Given the description of an element on the screen output the (x, y) to click on. 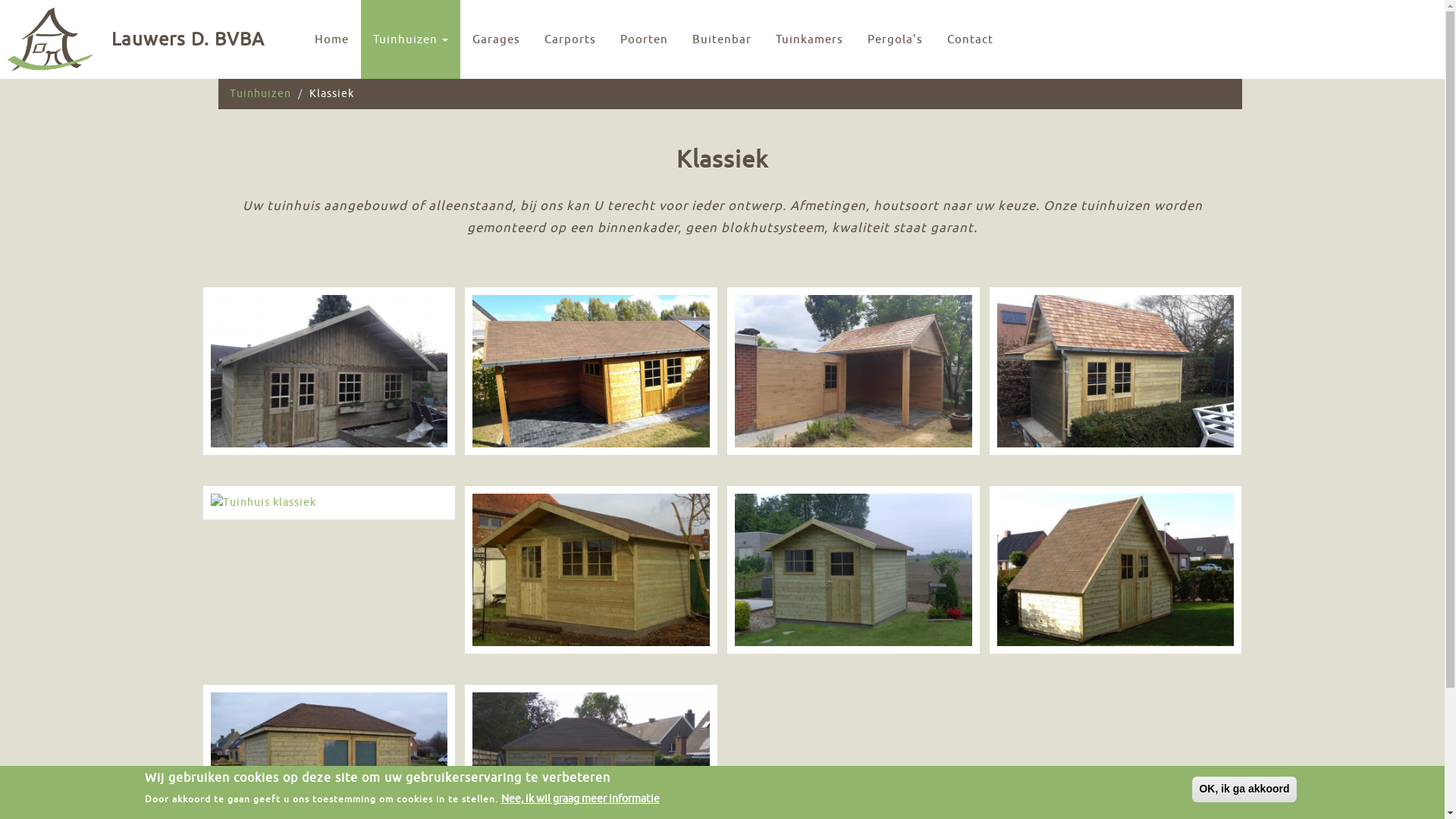
OK, ik ga akkoord Element type: text (1243, 789)
Tuinhuizen Element type: text (410, 39)
Buitenbar Element type: text (721, 39)
Contact Element type: text (970, 39)
Home Element type: text (331, 39)
Garages Element type: text (496, 39)
Tuinhuizen Element type: text (259, 93)
Poorten Element type: text (644, 39)
Carports Element type: text (570, 39)
Lauwers D. BVBA Element type: text (188, 31)
Nee, ik wil graag meer informatie Element type: text (579, 799)
Tuinkamers Element type: text (809, 39)
Overslaan en naar de inhoud gaan Element type: text (0, 0)
Home Element type: hover (50, 39)
Pergola's Element type: text (895, 39)
